Given the description of an element on the screen output the (x, y) to click on. 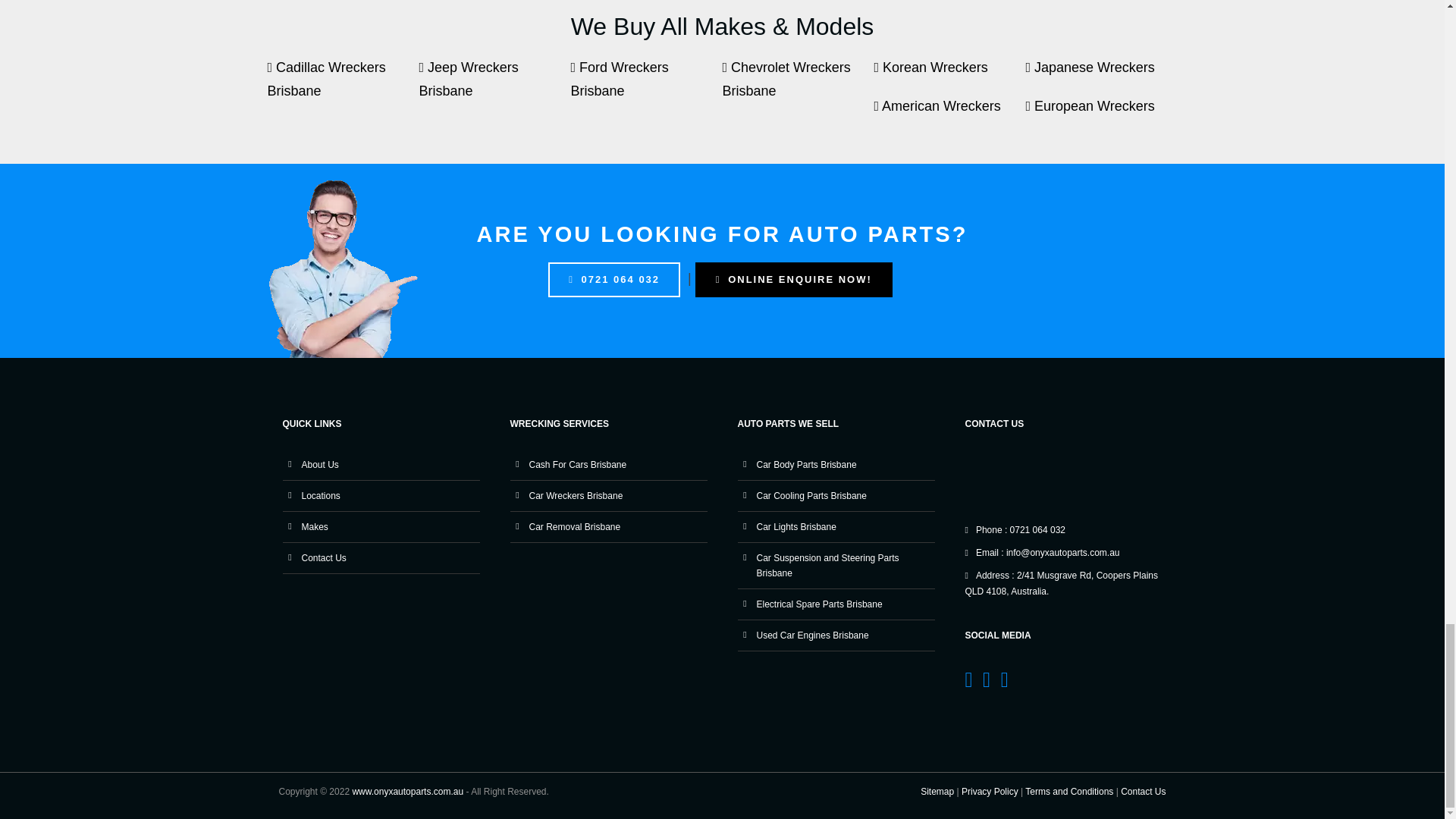
Korean Wreckers (949, 75)
Ford Wreckers Brisbane (646, 86)
Japanese Wreckers (1100, 75)
Chevrolet Wreckers Brisbane (797, 86)
European Wreckers (1100, 114)
Jeep Wreckers Brisbane (494, 86)
Cadillac Wreckers Brisbane (342, 86)
American Wreckers (949, 114)
